Given the description of an element on the screen output the (x, y) to click on. 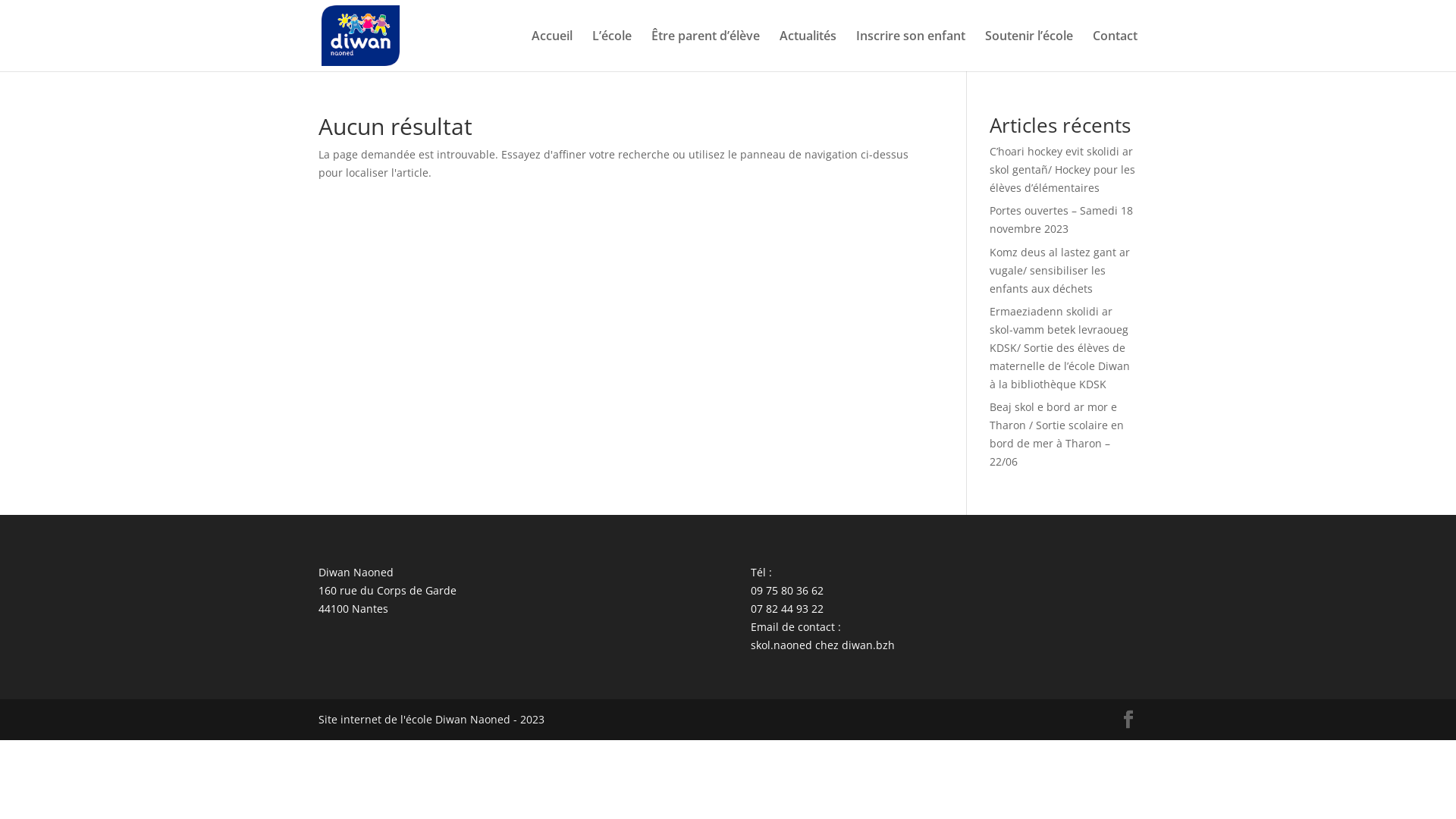
Inscrire son enfant Element type: text (910, 50)
Contact Element type: text (1114, 50)
Accueil Element type: text (551, 50)
